Given the description of an element on the screen output the (x, y) to click on. 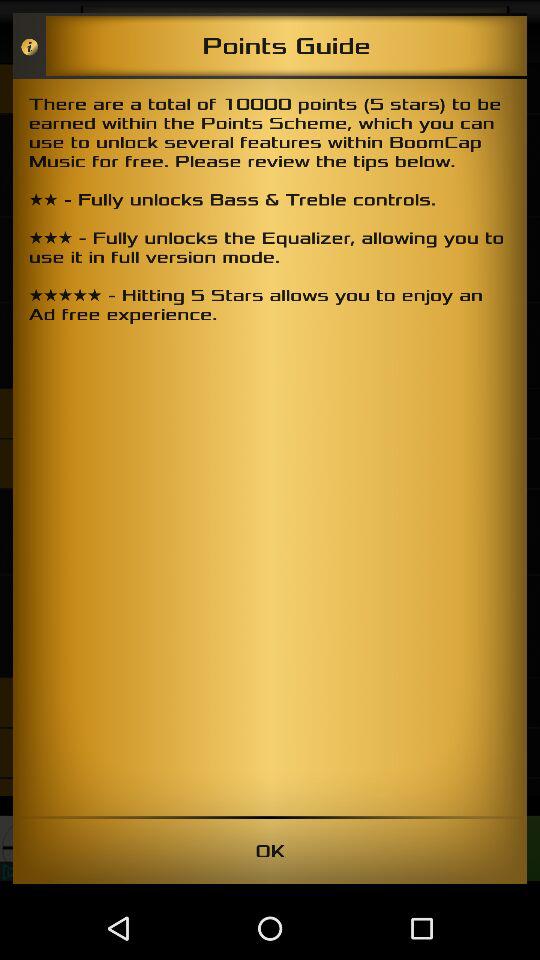
select icon below the points guide icon (269, 447)
